Given the description of an element on the screen output the (x, y) to click on. 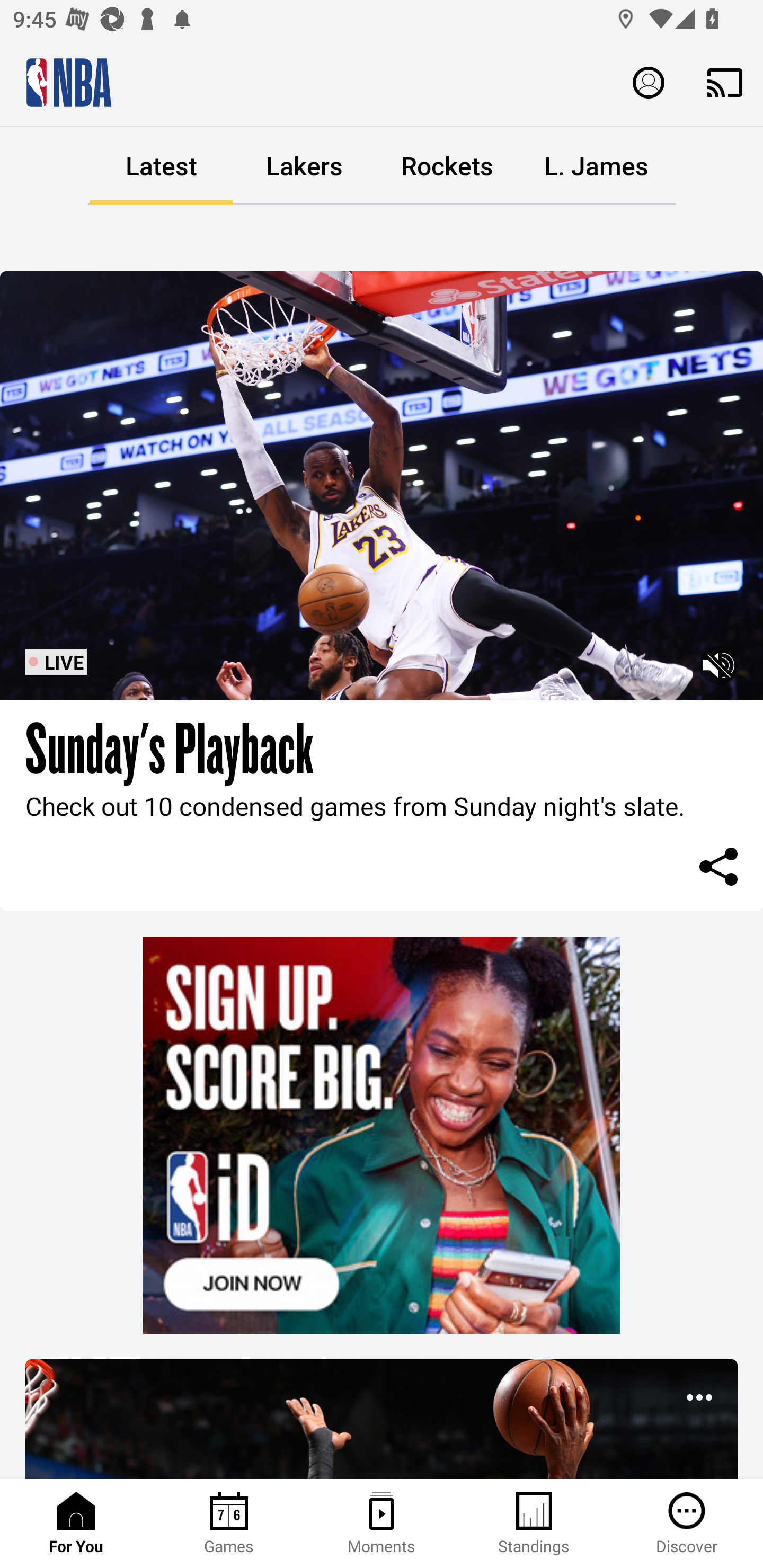
Cast. Disconnected (724, 82)
Profile (648, 81)
Lakers (303, 166)
Rockets (446, 166)
L. James (595, 166)
Games (228, 1523)
Moments (381, 1523)
Standings (533, 1523)
Discover (686, 1523)
